Given the description of an element on the screen output the (x, y) to click on. 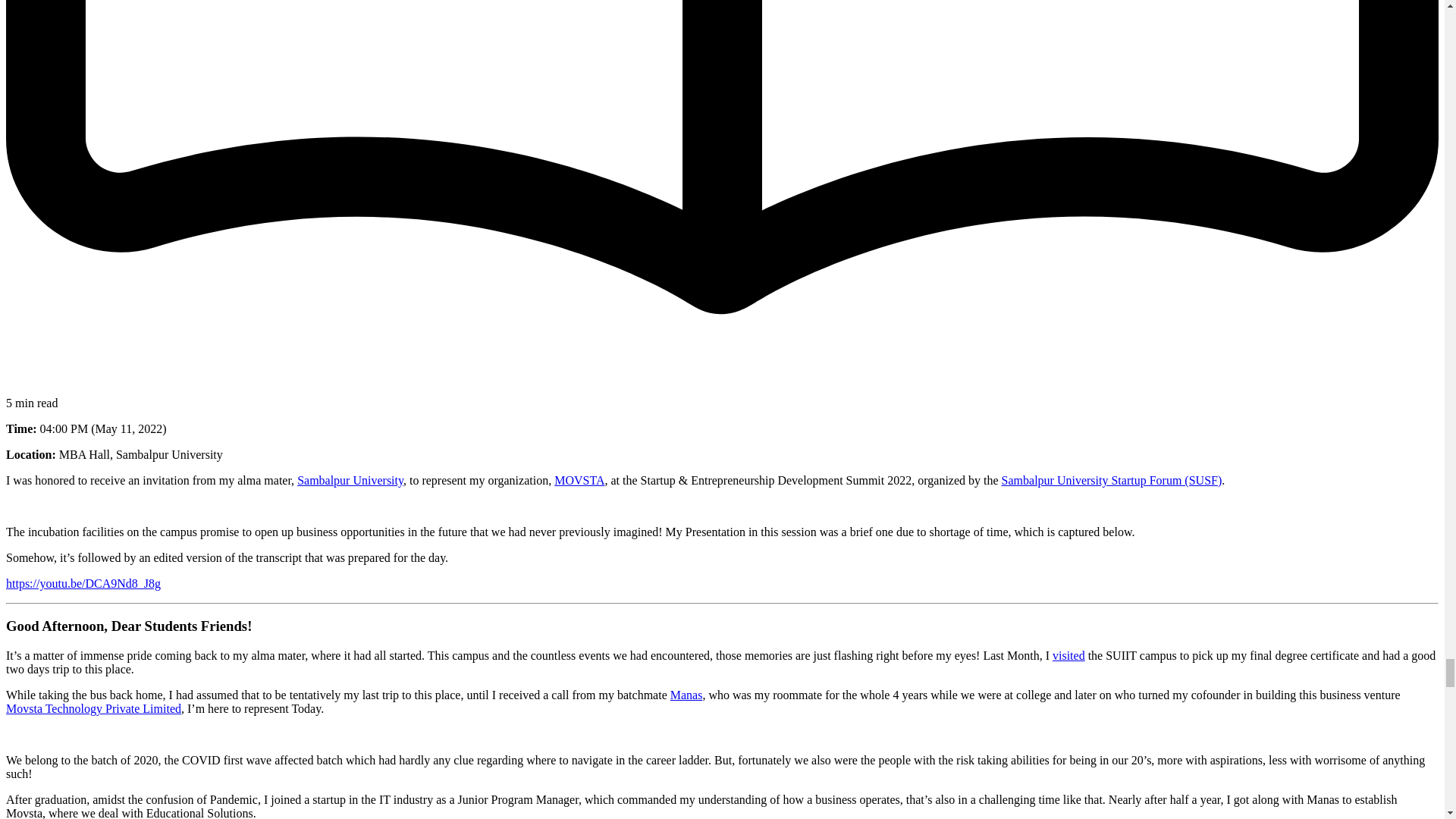
visited (1068, 655)
Sambalpur University (350, 480)
Movsta Technology Private Limited (92, 707)
Manas (686, 694)
MOVSTA (579, 480)
